Given the description of an element on the screen output the (x, y) to click on. 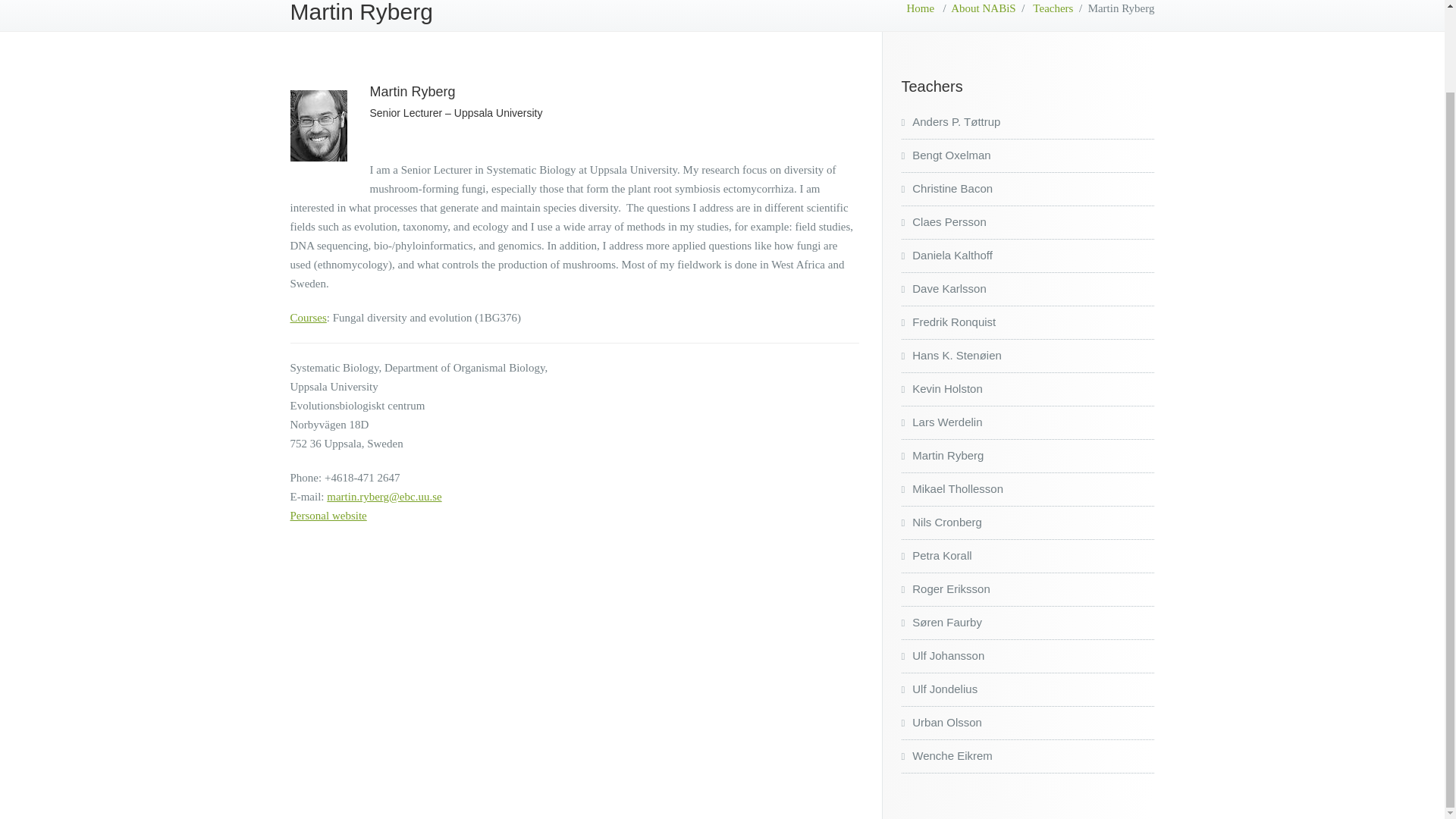
Lars Werdelin (941, 421)
About NABiS (982, 8)
Dave Karlsson (943, 287)
Home (920, 8)
Martin Ryberg (942, 454)
Nils Cronberg (941, 521)
Petra Korall (936, 554)
Mikael Thollesson (952, 488)
Daniela Kalthoff (946, 254)
Claes Persson (943, 221)
